Given the description of an element on the screen output the (x, y) to click on. 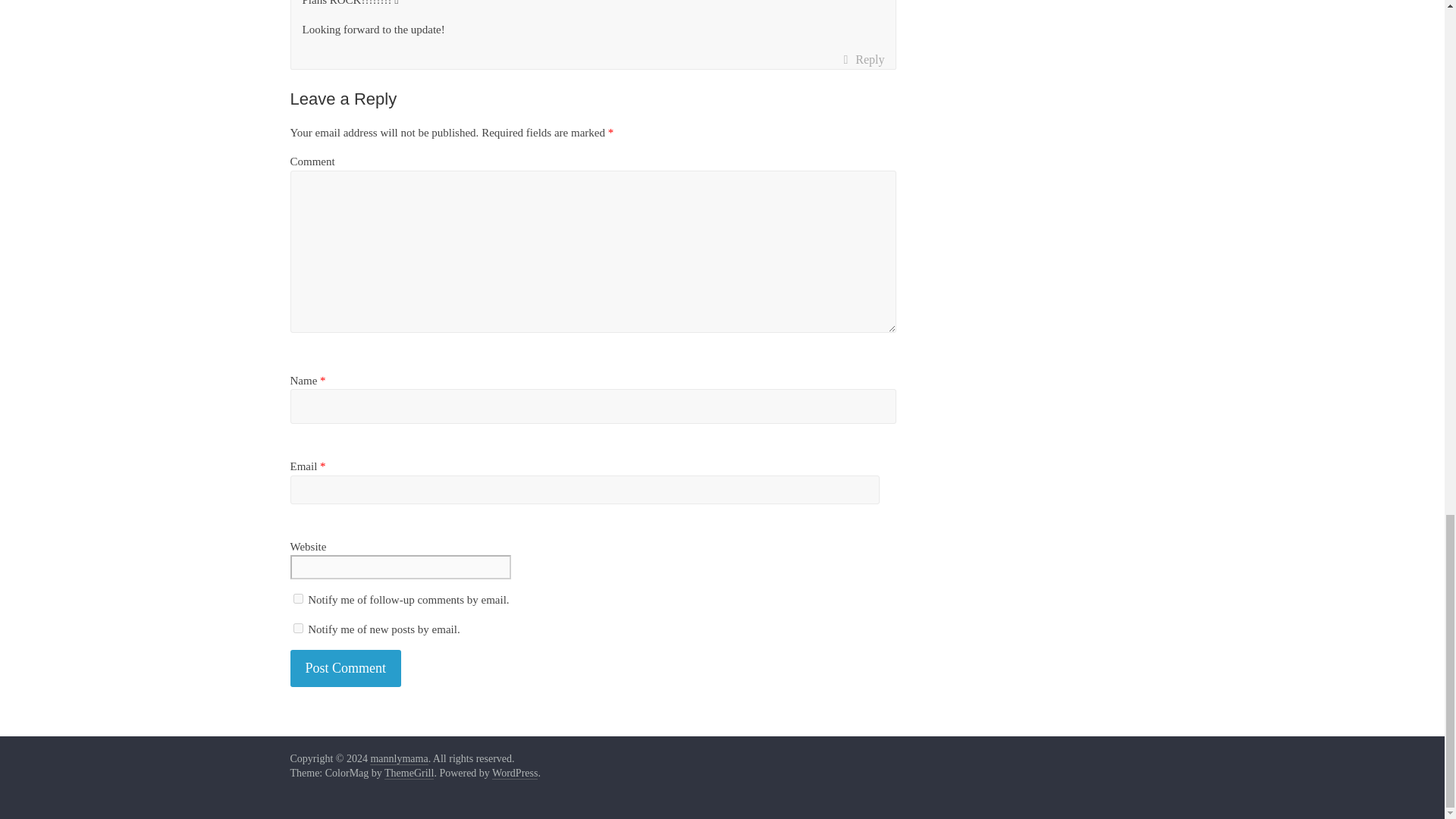
subscribe (297, 628)
subscribe (297, 598)
Post Comment (345, 668)
